Given the description of an element on the screen output the (x, y) to click on. 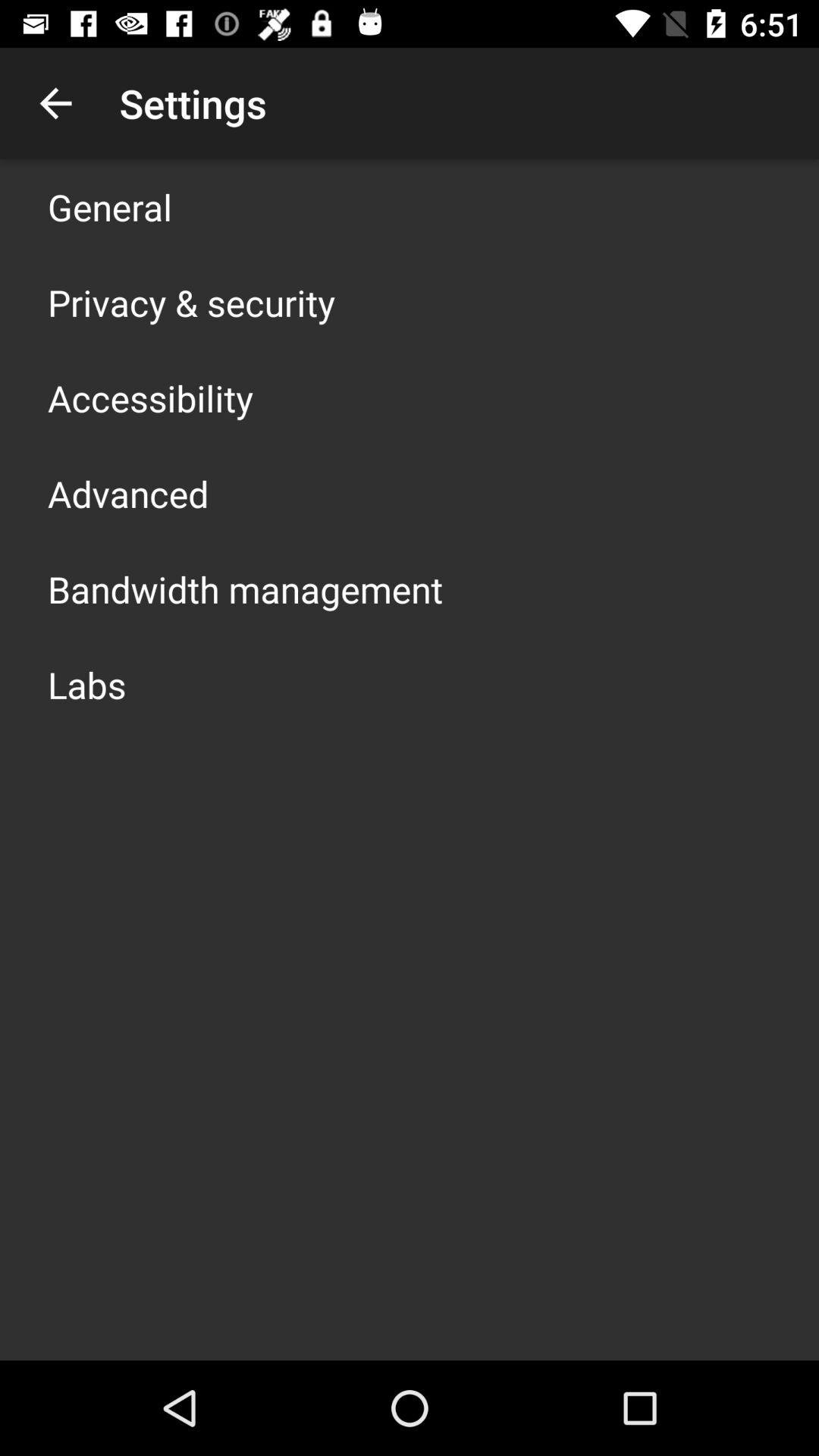
choose privacy & security icon (190, 302)
